Given the description of an element on the screen output the (x, y) to click on. 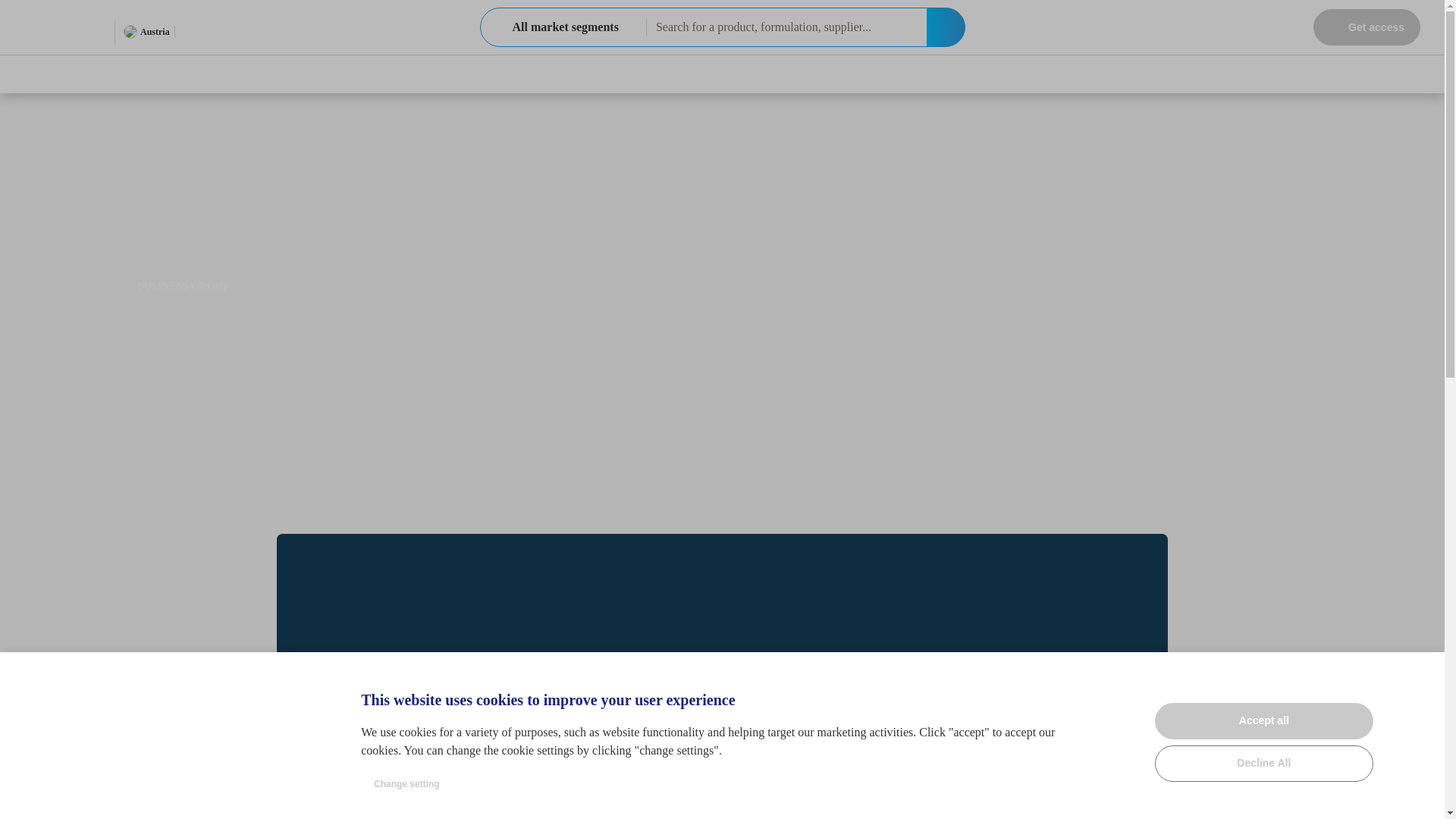
Search (944, 27)
all (495, 27)
Settings (1421, 675)
Change setting (406, 784)
Accept all (1263, 720)
Open Dropdown (213, 31)
Decline All (1263, 763)
Settings (563, 27)
Austria (1421, 675)
Get access (146, 31)
Search (1367, 27)
Enable cookies (944, 27)
